Given the description of an element on the screen output the (x, y) to click on. 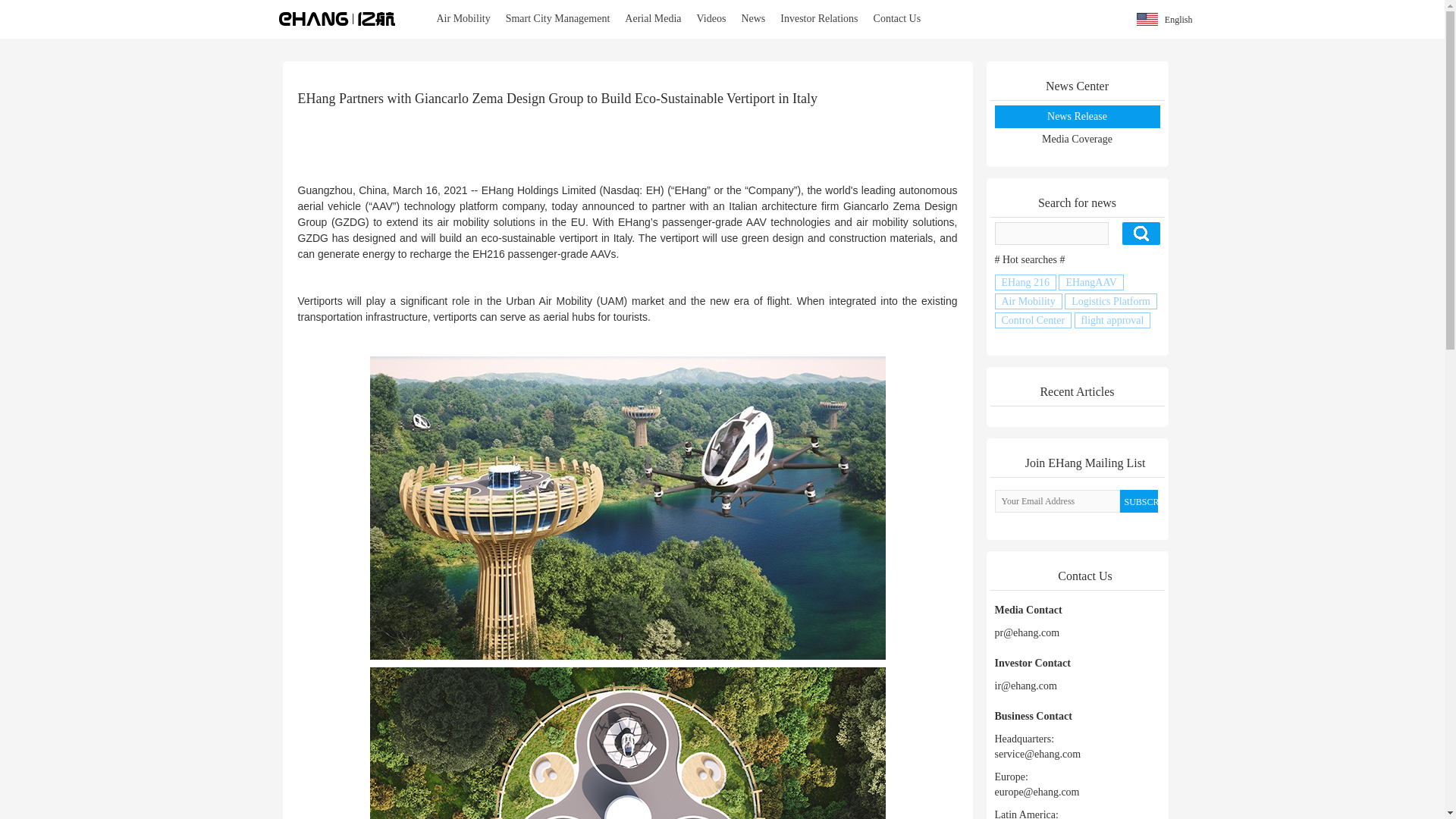
Aerial Media (652, 18)
News Release (1076, 116)
News (753, 18)
Air Mobility (463, 18)
flight approval (1112, 320)
Videos (710, 18)
Smart City Management (557, 18)
Media Coverage (1077, 138)
Control Center (1032, 320)
Air Mobility (1028, 301)
SUBSCRIBE (1138, 500)
Logistics Platform (1110, 301)
1615897687189844.jpg (627, 743)
EHang 216 (1025, 282)
